Given the description of an element on the screen output the (x, y) to click on. 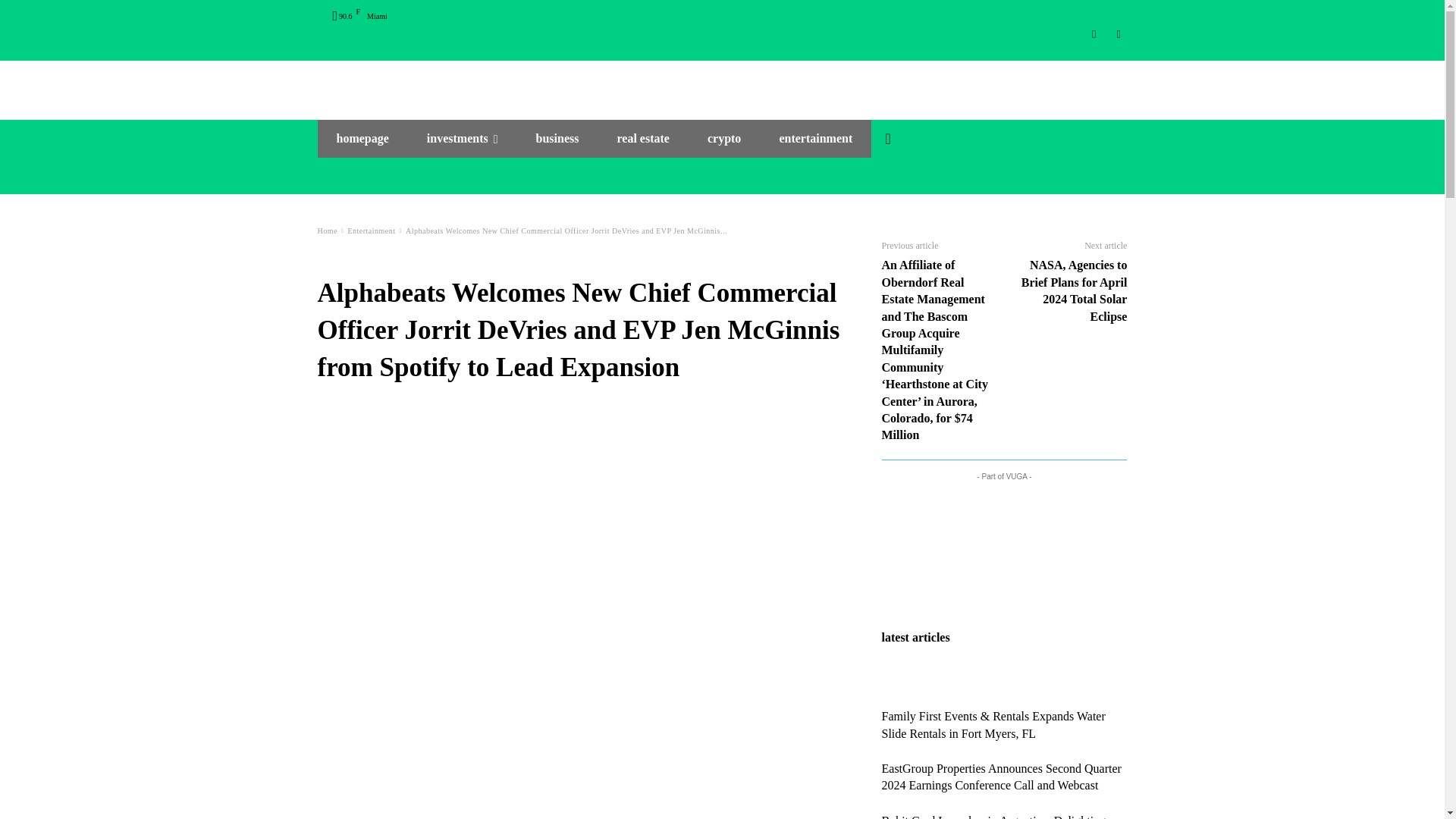
entertainment (815, 138)
News Jay (721, 84)
real estate (641, 138)
crypto (724, 138)
investments (461, 138)
Facebook (1117, 34)
Instagram (1094, 34)
business (557, 138)
homepage (362, 138)
News Jay (721, 84)
